Given the description of an element on the screen output the (x, y) to click on. 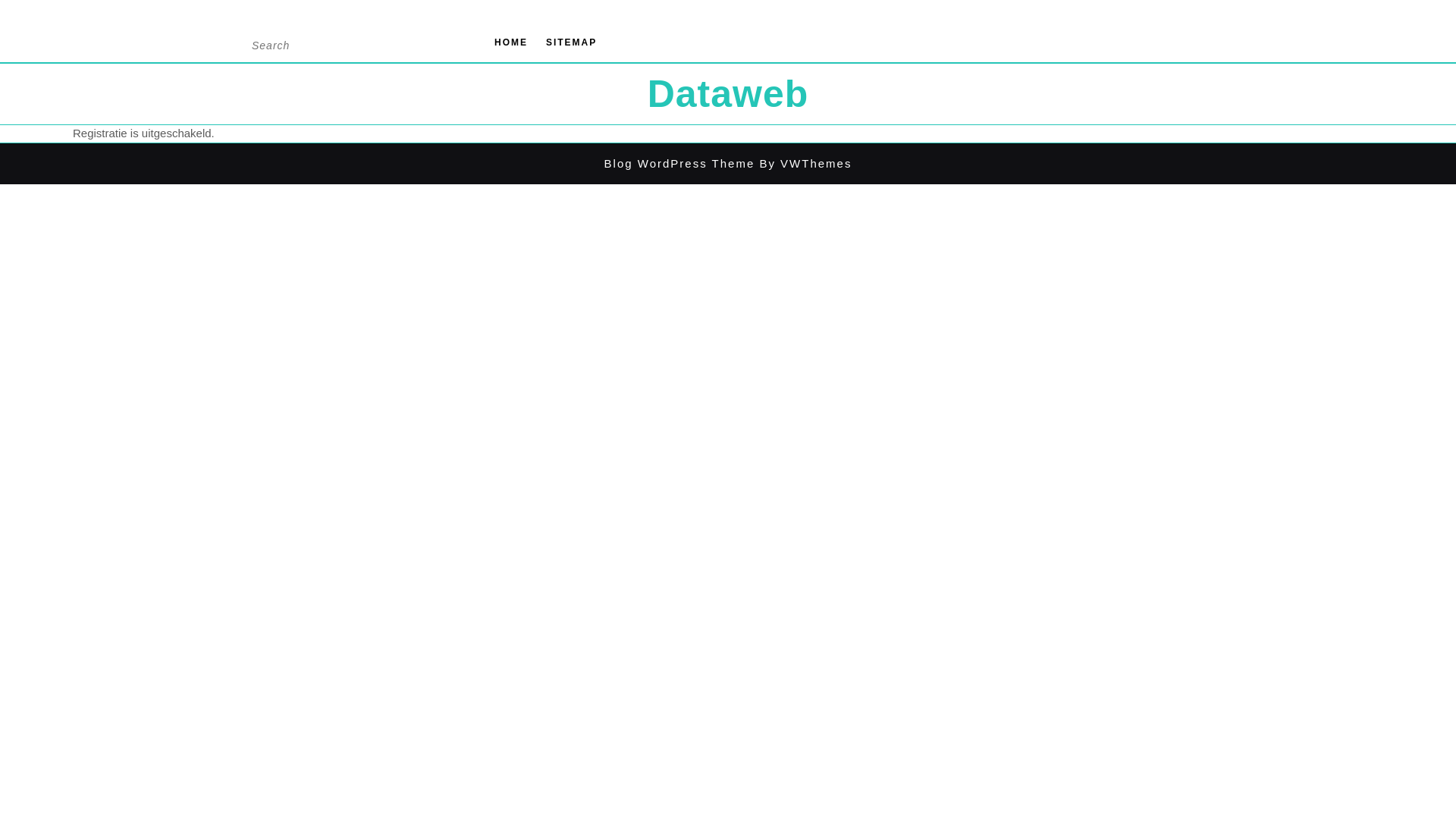
Dataweb Element type: text (728, 93)
Search Element type: text (453, 40)
Blog WordPress Theme Element type: text (679, 162)
SITEMAP Element type: text (571, 42)
HOME Element type: text (510, 42)
